Given the description of an element on the screen output the (x, y) to click on. 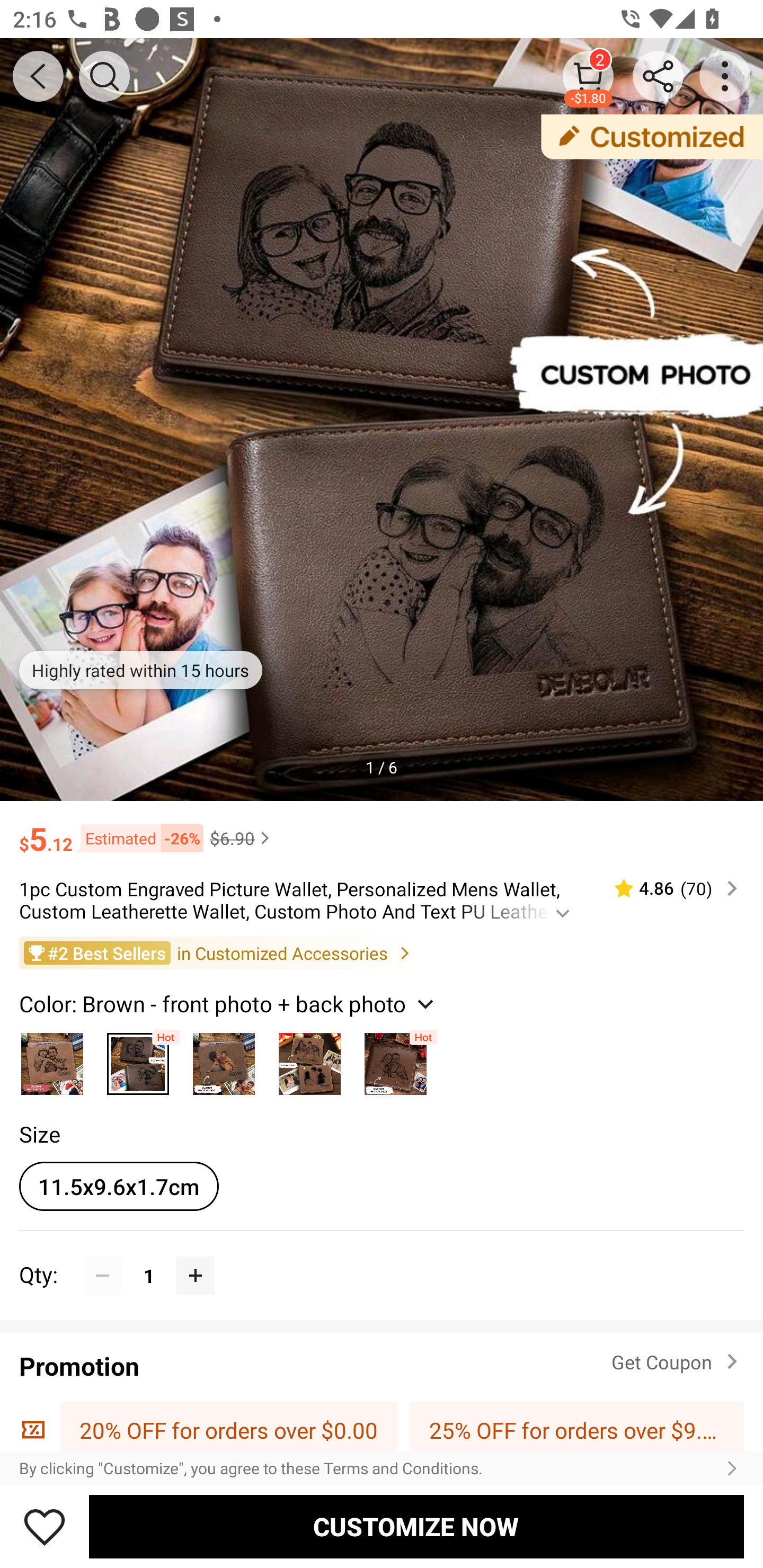
PHOTOS Highly rated within 15 hours 1 / 6 (381, 419)
BACK (38, 75)
2 -$1.80 (588, 75)
1 / 6 (381, 766)
$5.12 Estimated -26% $6.90 (381, 830)
Estimated -26% (137, 838)
$6.90 (241, 837)
4.86 (70) (667, 887)
#2 Best Sellers in Customized Accessories (381, 952)
Color: Brown - front photo + back photo (228, 1003)
Brown - front photo + back photo (138, 1059)
Light brown - sketch photo + back photo (309, 1059)
Brown-front photo+Customized text on the back (395, 1059)
Size (39, 1134)
11.5x9.6x1.7cm 11.5x9.6x1.7cmselected option (118, 1185)
Qty: 1 (381, 1255)
CUSTOMIZE NOW (416, 1526)
Save (44, 1526)
